Given the description of an element on the screen output the (x, y) to click on. 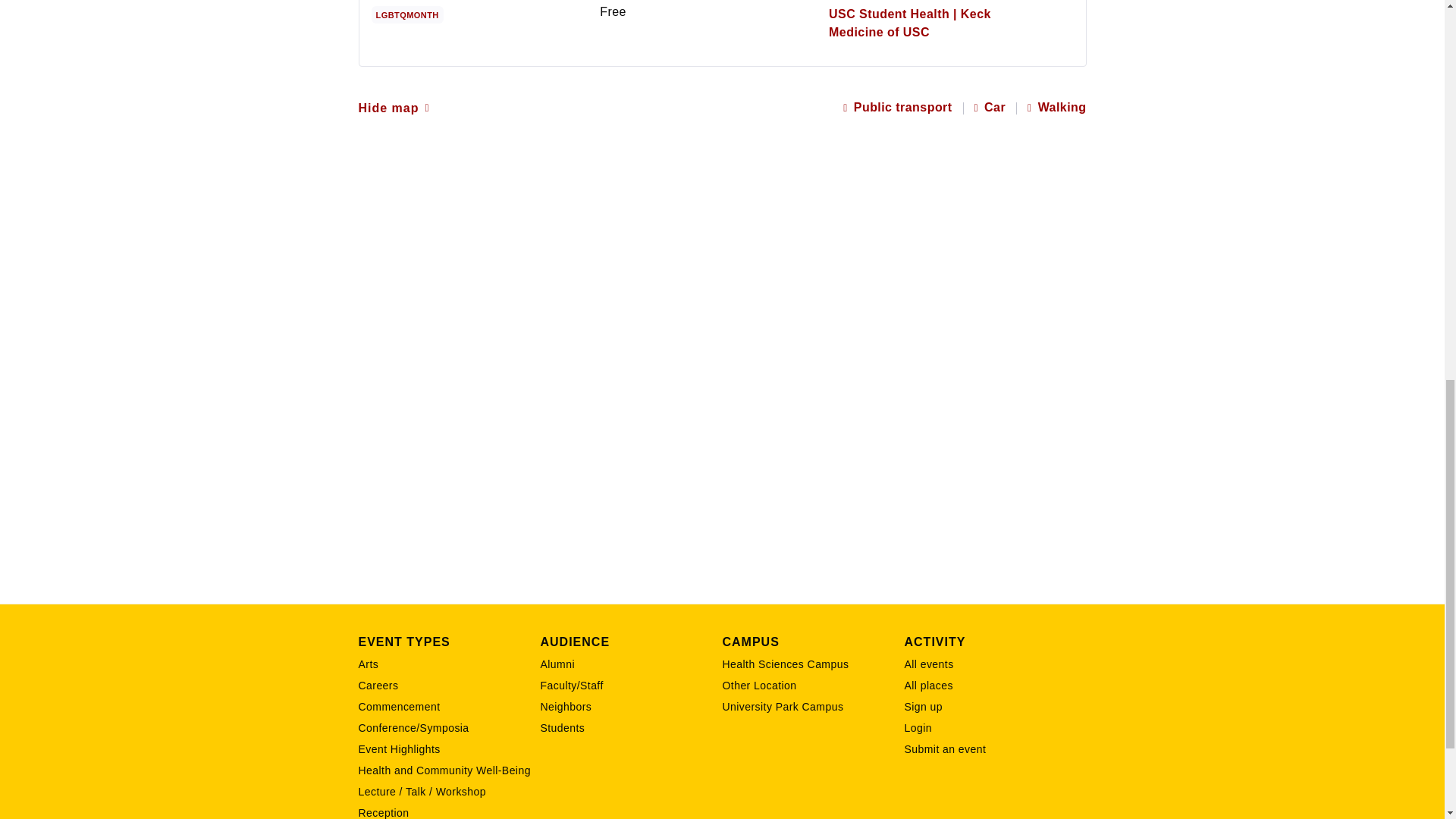
LGBTQMONTH (410, 13)
Arts (449, 664)
Walking (1056, 108)
Commencement (449, 706)
Car (990, 108)
Public transport (897, 108)
Careers (449, 685)
